Given the description of an element on the screen output the (x, y) to click on. 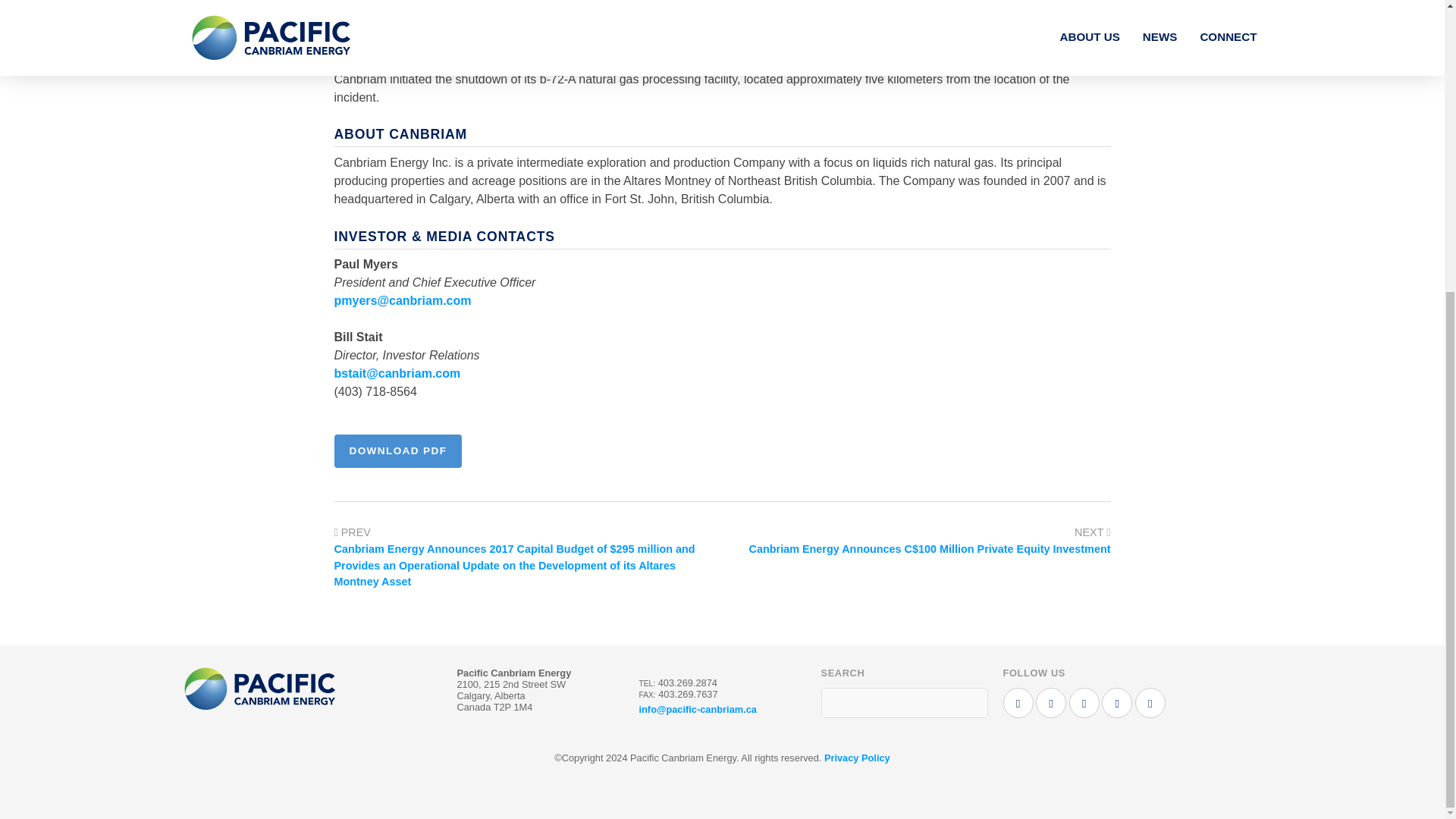
Search (971, 702)
DOWNLOAD PDF (397, 450)
Privacy Policy (856, 757)
Search (971, 702)
